Given the description of an element on the screen output the (x, y) to click on. 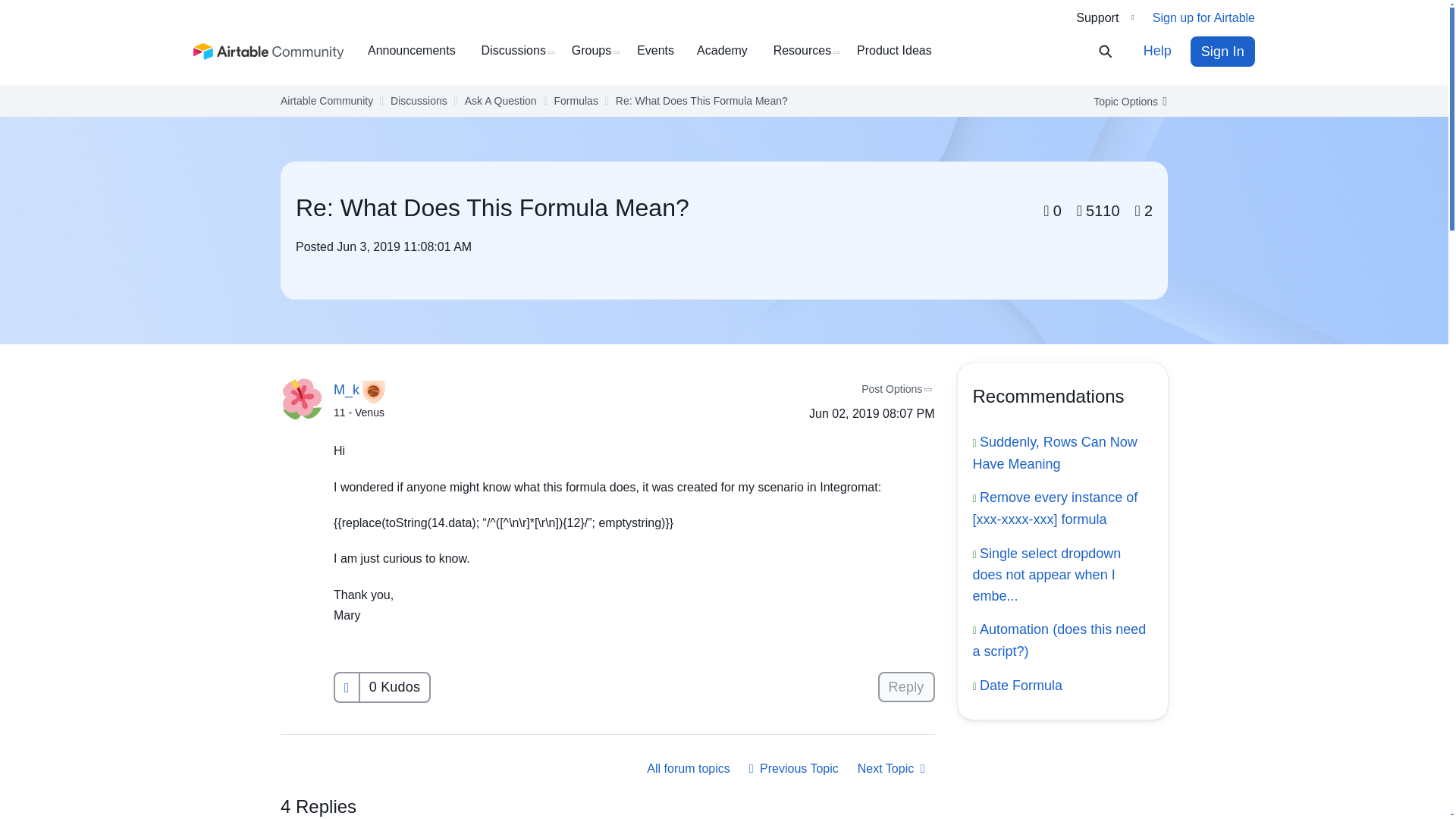
Announcements (417, 50)
Product Ideas (900, 50)
Resources (808, 50)
Events (661, 50)
Academy (727, 50)
Sign up for Airtable (1204, 17)
Airtable Community (269, 51)
Search (1114, 51)
Help (1157, 50)
Groups (597, 50)
